Given the description of an element on the screen output the (x, y) to click on. 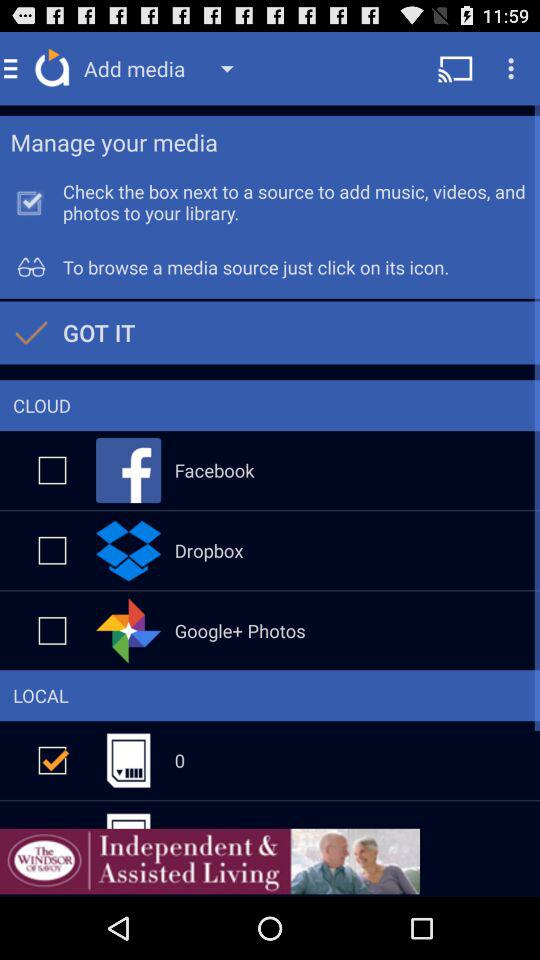
go to gallery (52, 630)
